Given the description of an element on the screen output the (x, y) to click on. 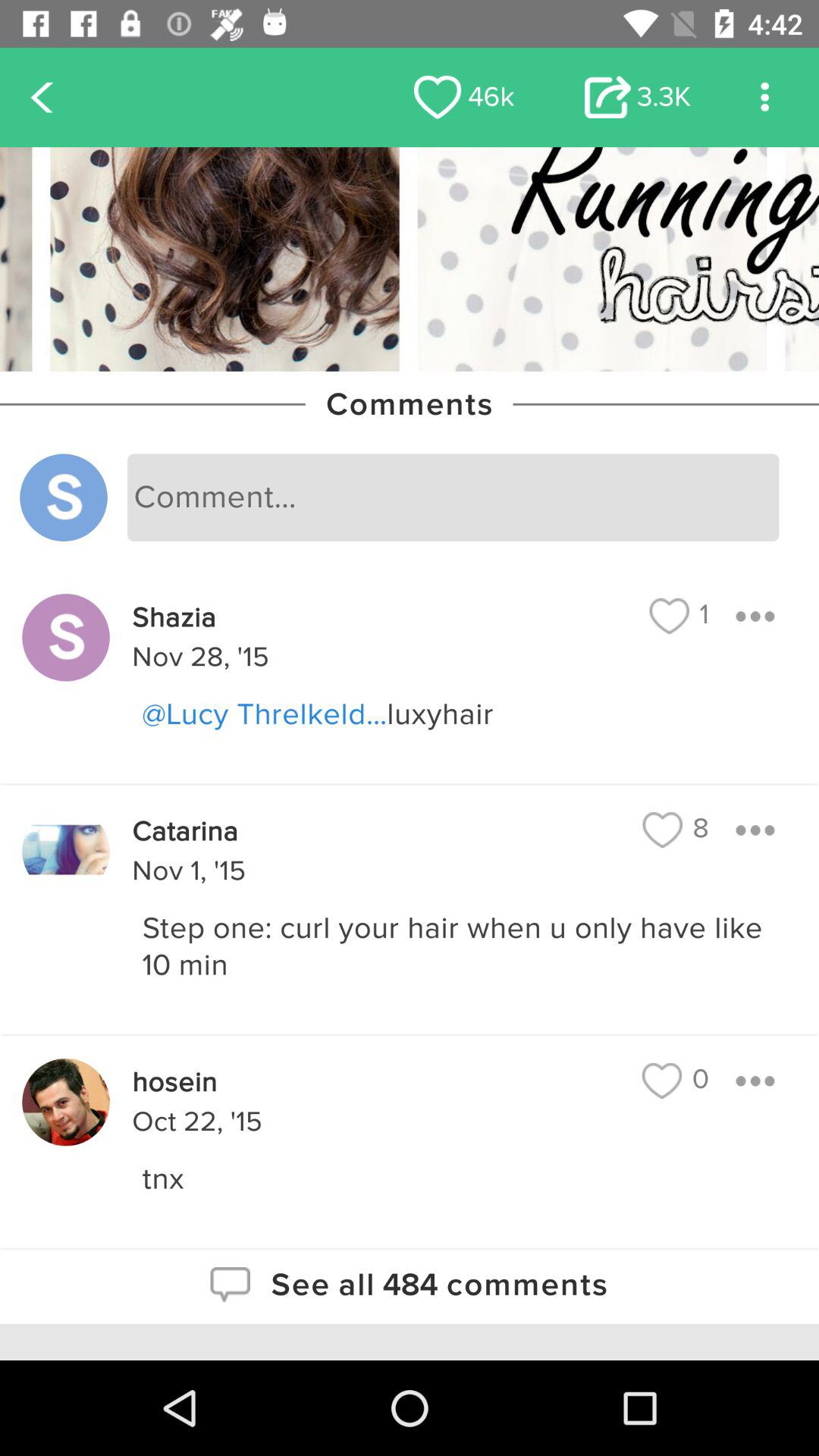
click icon to the right of the nov 1, '15 (675, 830)
